Given the description of an element on the screen output the (x, y) to click on. 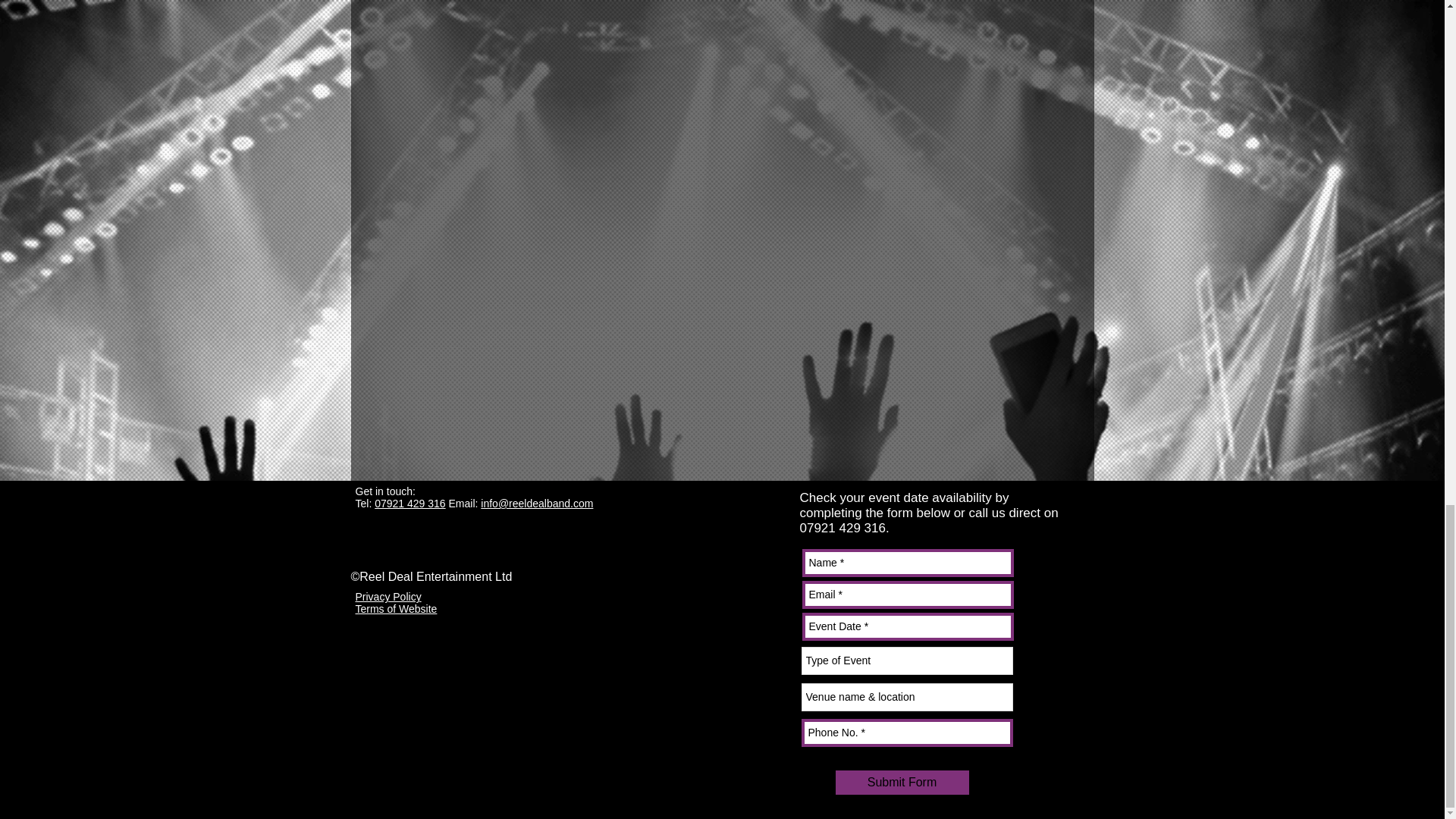
07921 429 316 (409, 503)
Terms of Website (395, 608)
External Vimeo (584, 95)
Privacy Policy (387, 596)
Submit Form (902, 782)
External YouTube (578, 326)
